Given the description of an element on the screen output the (x, y) to click on. 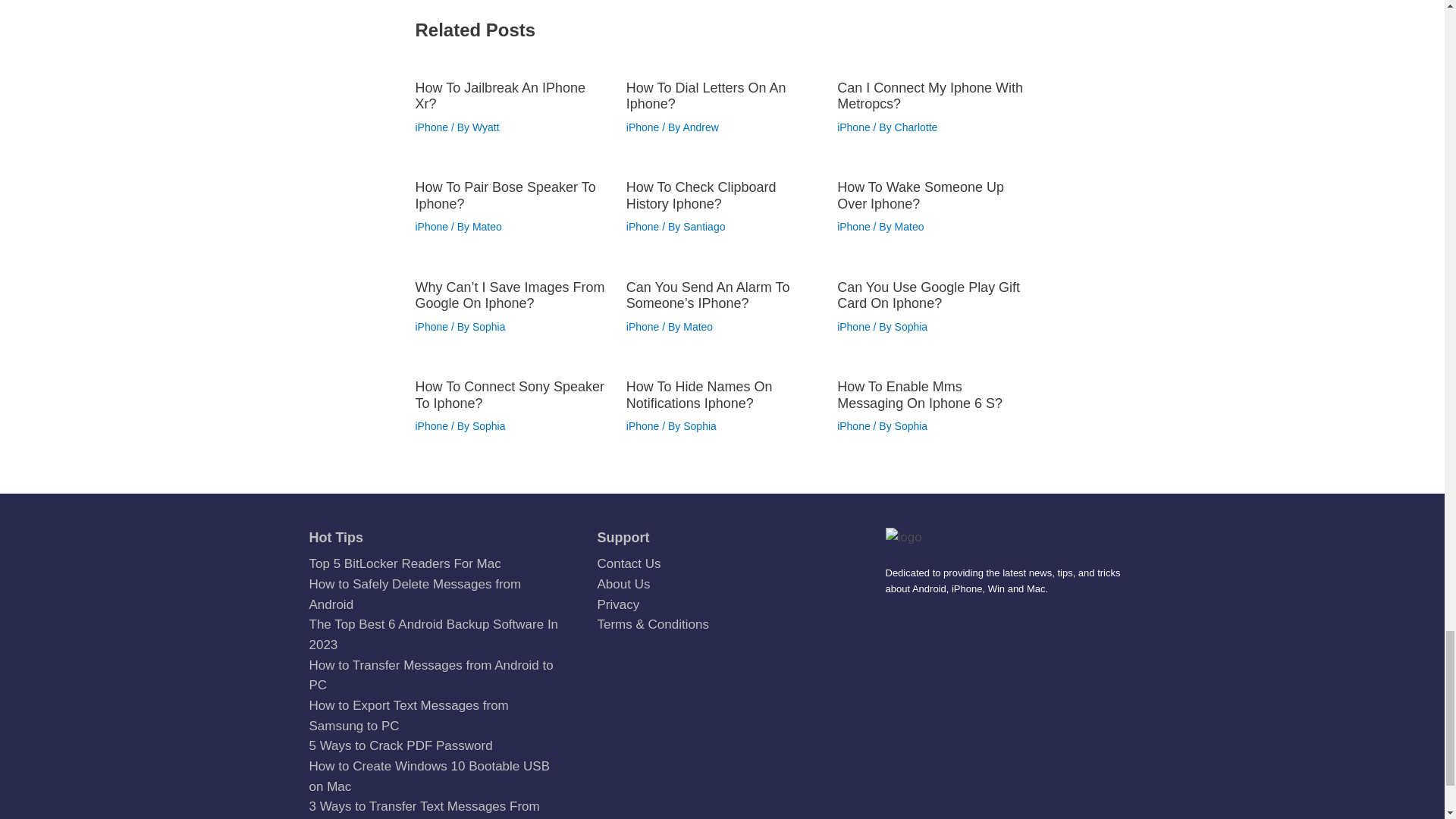
View all posts by Andrew (699, 127)
View all posts by Mateo (909, 226)
View all posts by Santiago (703, 226)
View all posts by Mateo (486, 226)
View all posts by Sophia (488, 326)
View all posts by Charlotte (916, 127)
View all posts by Wyatt (485, 127)
